Given the description of an element on the screen output the (x, y) to click on. 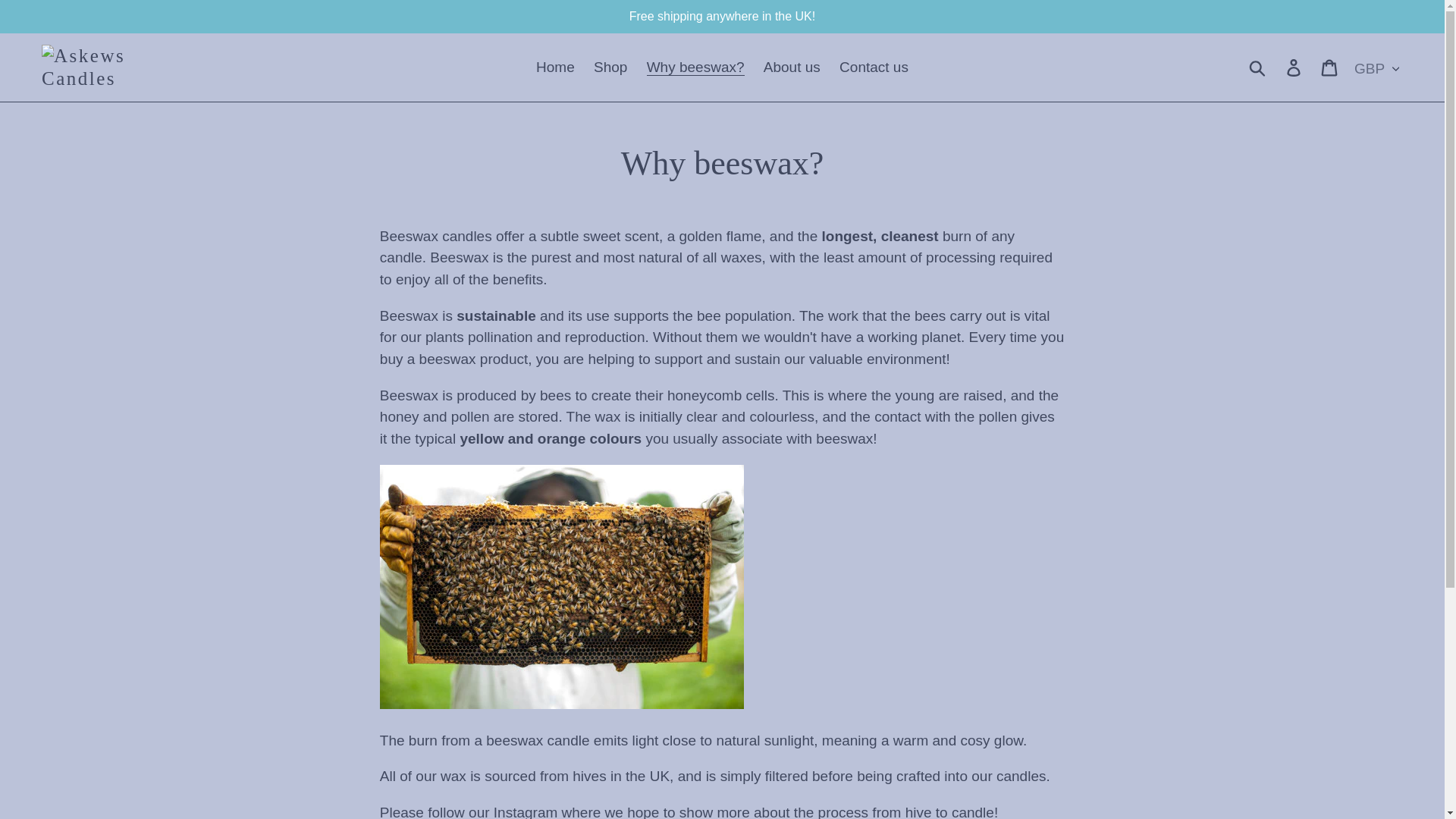
Contact us (873, 67)
Cart (1330, 67)
our Instagram (512, 811)
Shop (610, 67)
Why beeswax? (695, 67)
About us (791, 67)
Home (555, 67)
Submit (1258, 67)
Log in (1294, 67)
